Given the description of an element on the screen output the (x, y) to click on. 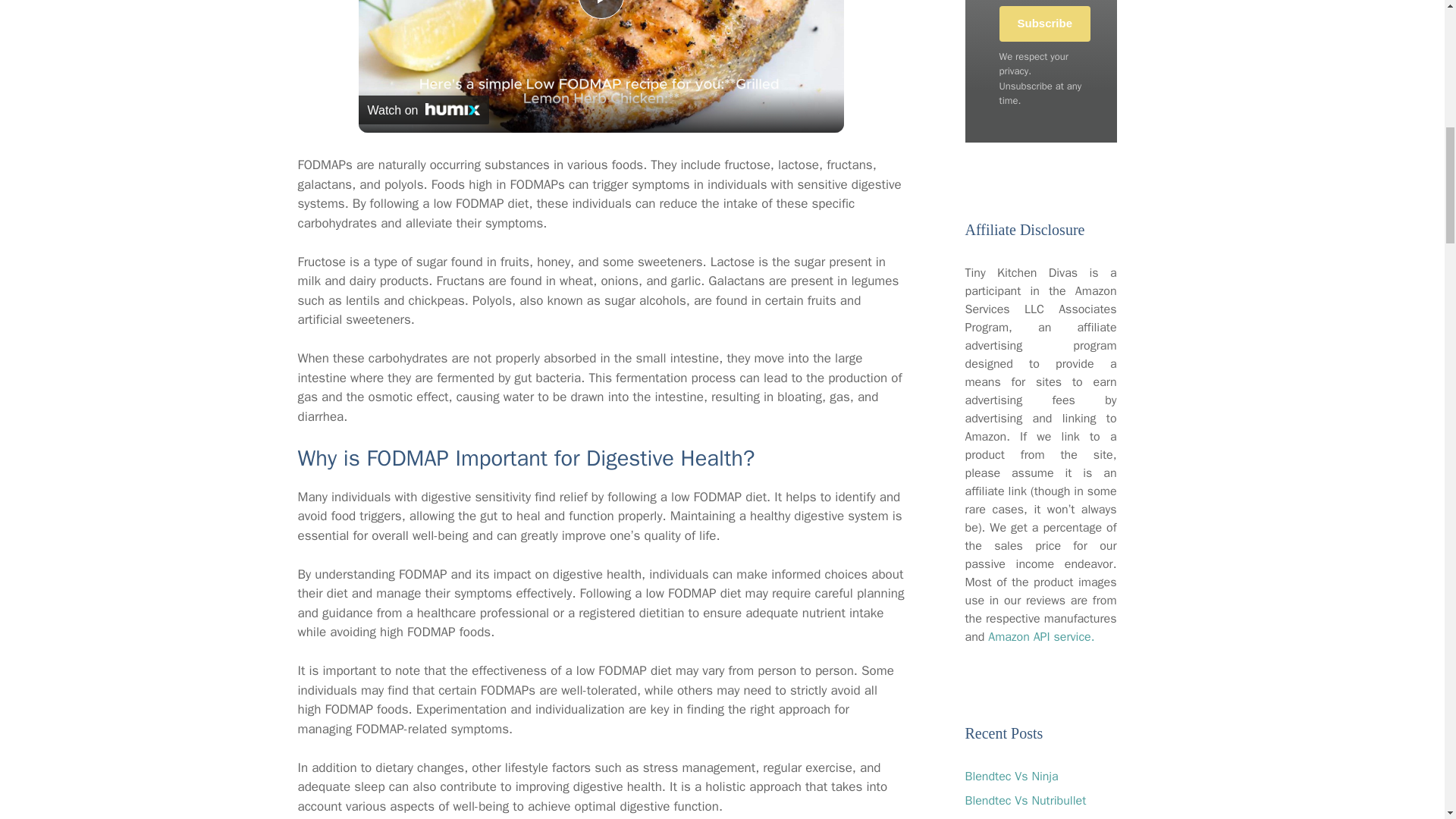
Scroll back to top (1406, 720)
Watch on (422, 109)
Play Video (600, 9)
Play Video (600, 9)
